Given the description of an element on the screen output the (x, y) to click on. 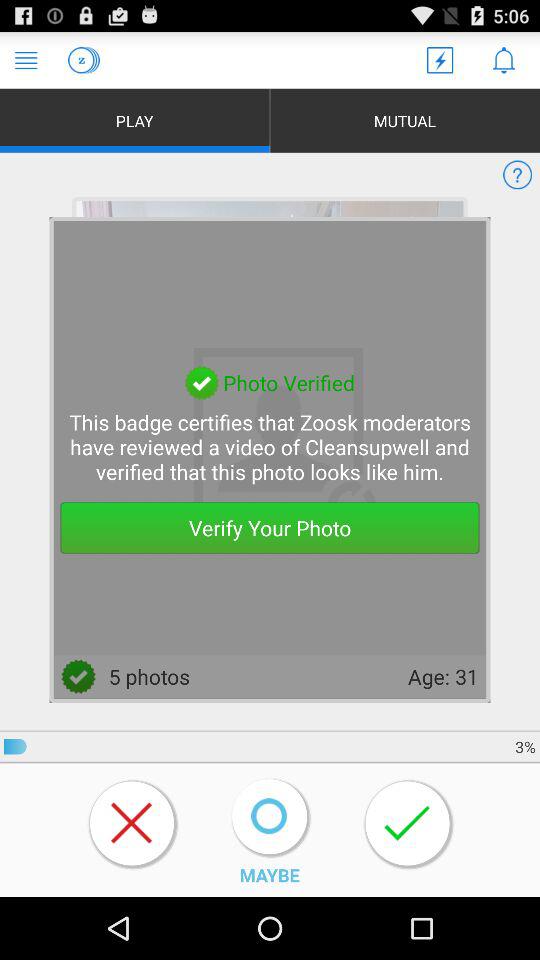
click the icon above maybe (269, 816)
click right at left side of the 5 photos (79, 677)
click on the icon right to the text maybe (407, 823)
select a tick button which is on bottom of the page (408, 824)
